Given the description of an element on the screen output the (x, y) to click on. 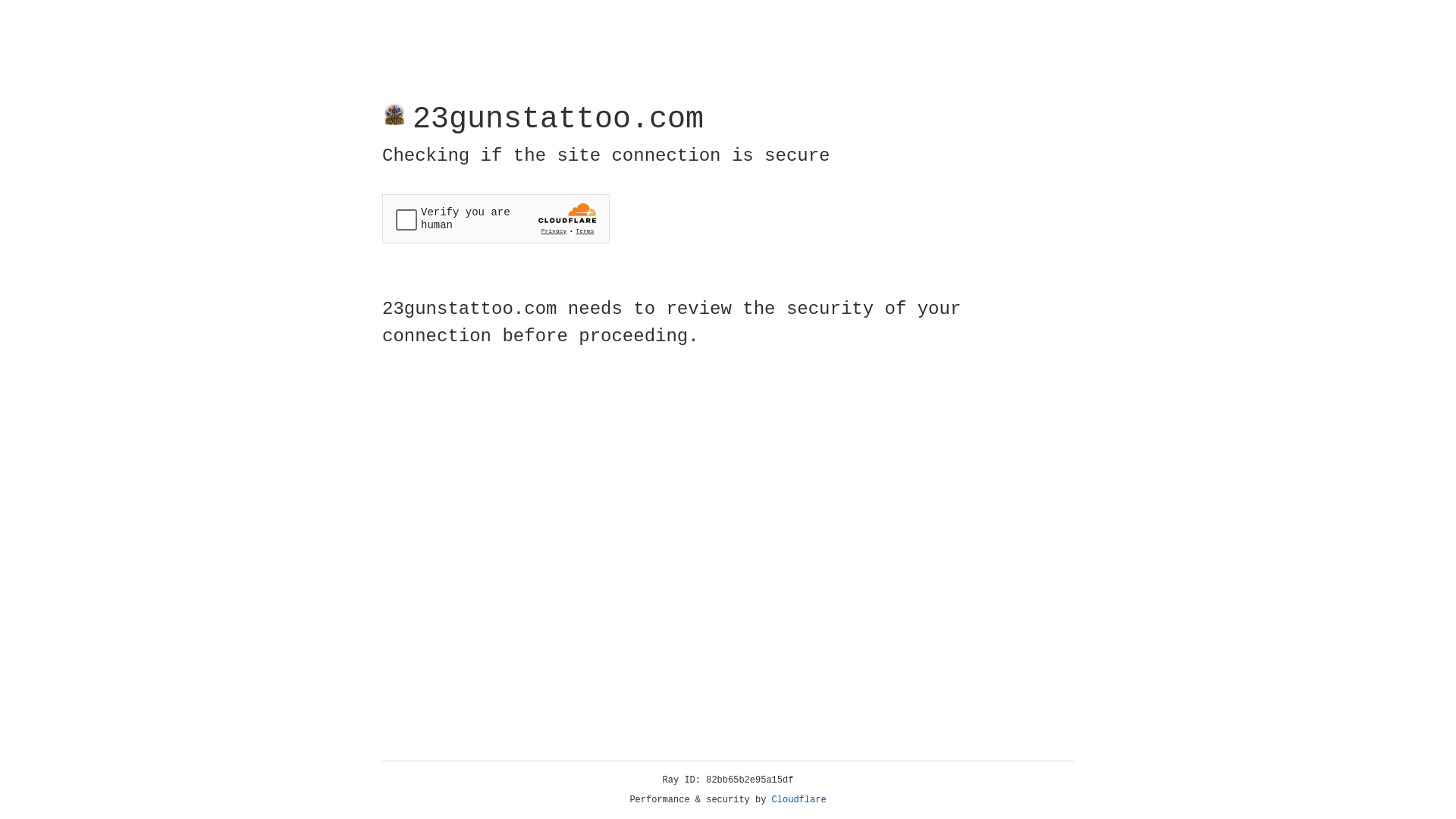
Widget containing a Cloudflare security challenge Element type: hover (495, 218)
Cloudflare Element type: text (798, 799)
